Given the description of an element on the screen output the (x, y) to click on. 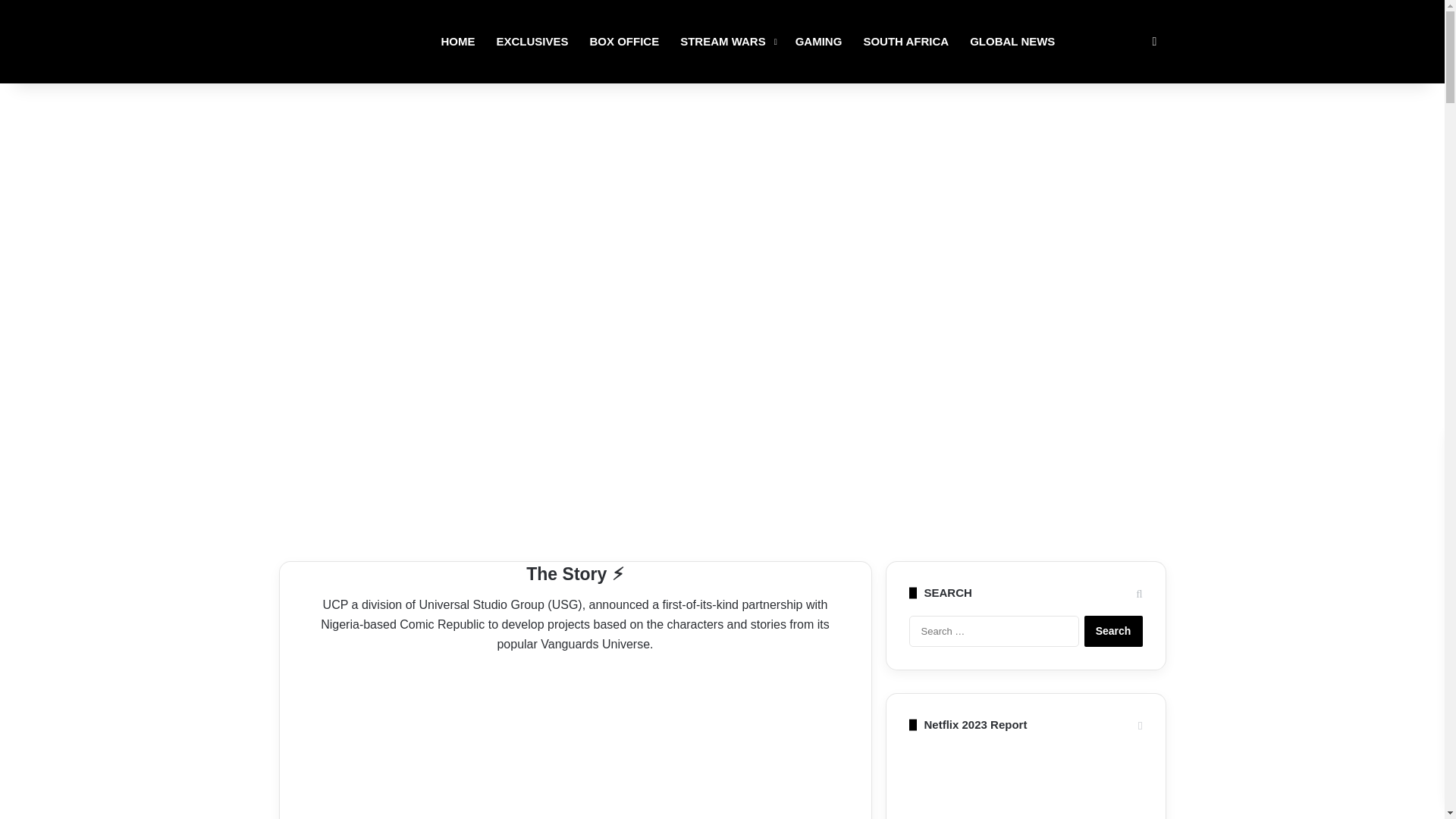
EXCLUSIVES (531, 41)
STREAM WARS (726, 41)
SOUTH AFRICA (905, 41)
Search (1113, 631)
GLOBAL NEWS (1012, 41)
Search (1113, 631)
BOX OFFICE (624, 41)
